Given the description of an element on the screen output the (x, y) to click on. 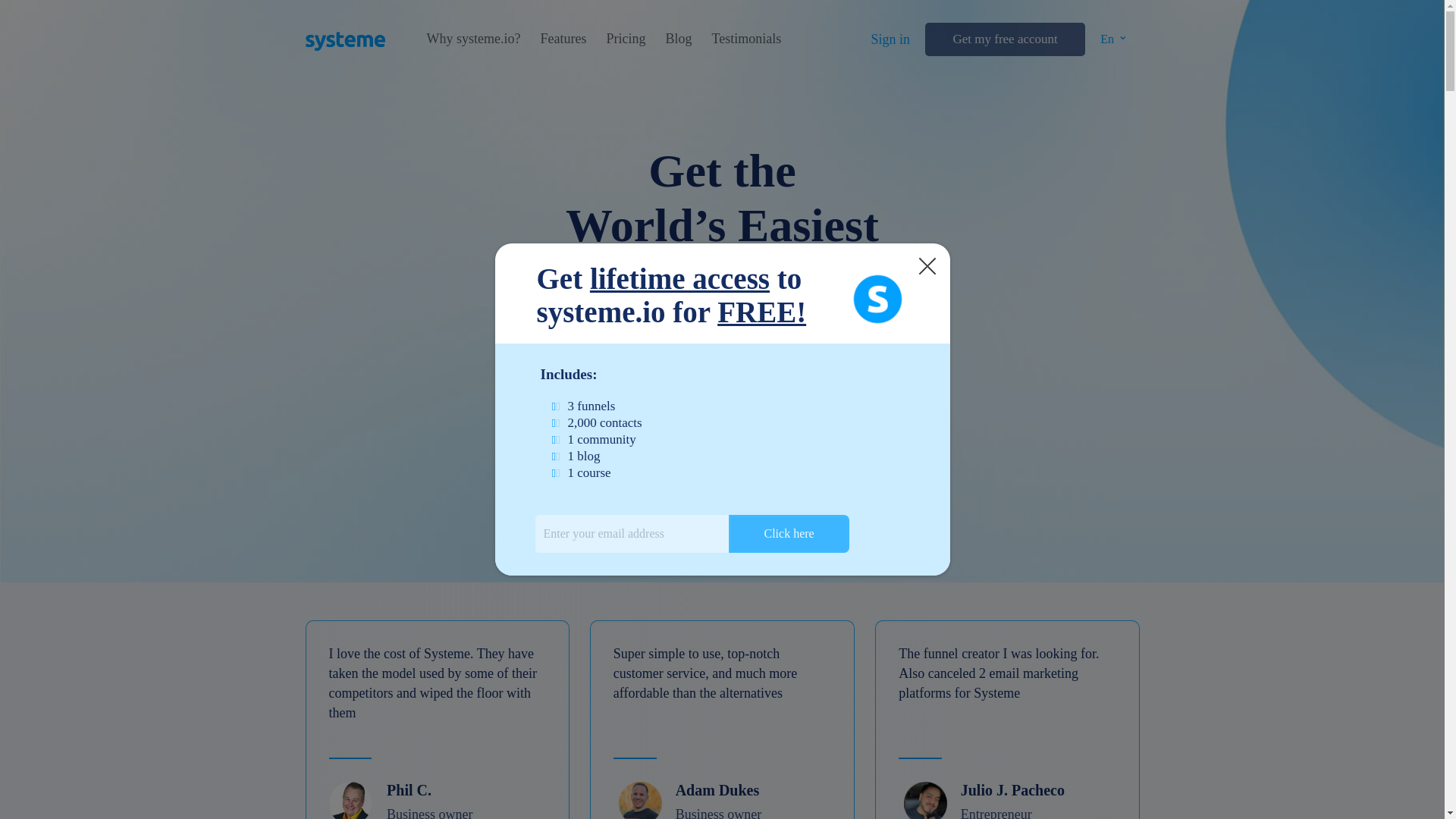
Features (563, 38)
Pricing (625, 38)
Sign in (890, 39)
Get my free account (1004, 39)
Blog (678, 38)
Why systeme.io? (472, 38)
Testimonials (745, 38)
